Given the description of an element on the screen output the (x, y) to click on. 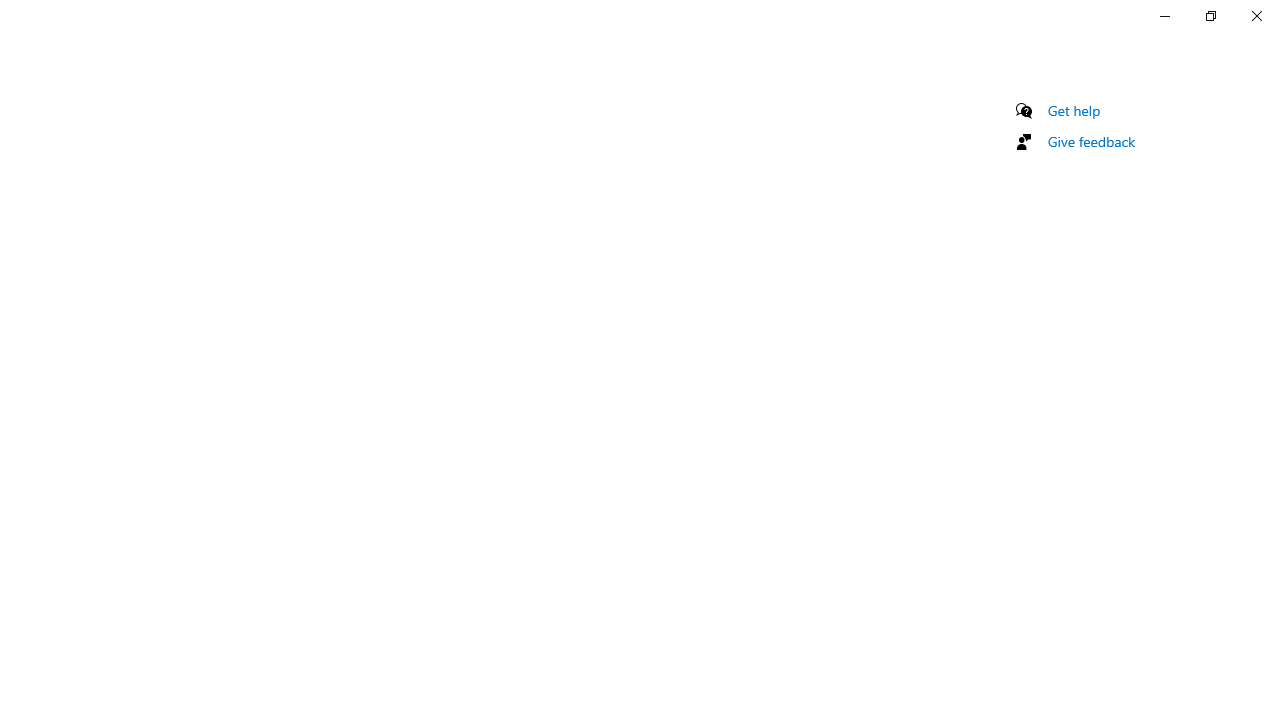
Get help (1074, 110)
Close Settings (1256, 15)
Give feedback (1091, 141)
Restore Settings (1210, 15)
Minimize Settings (1164, 15)
